Given the description of an element on the screen output the (x, y) to click on. 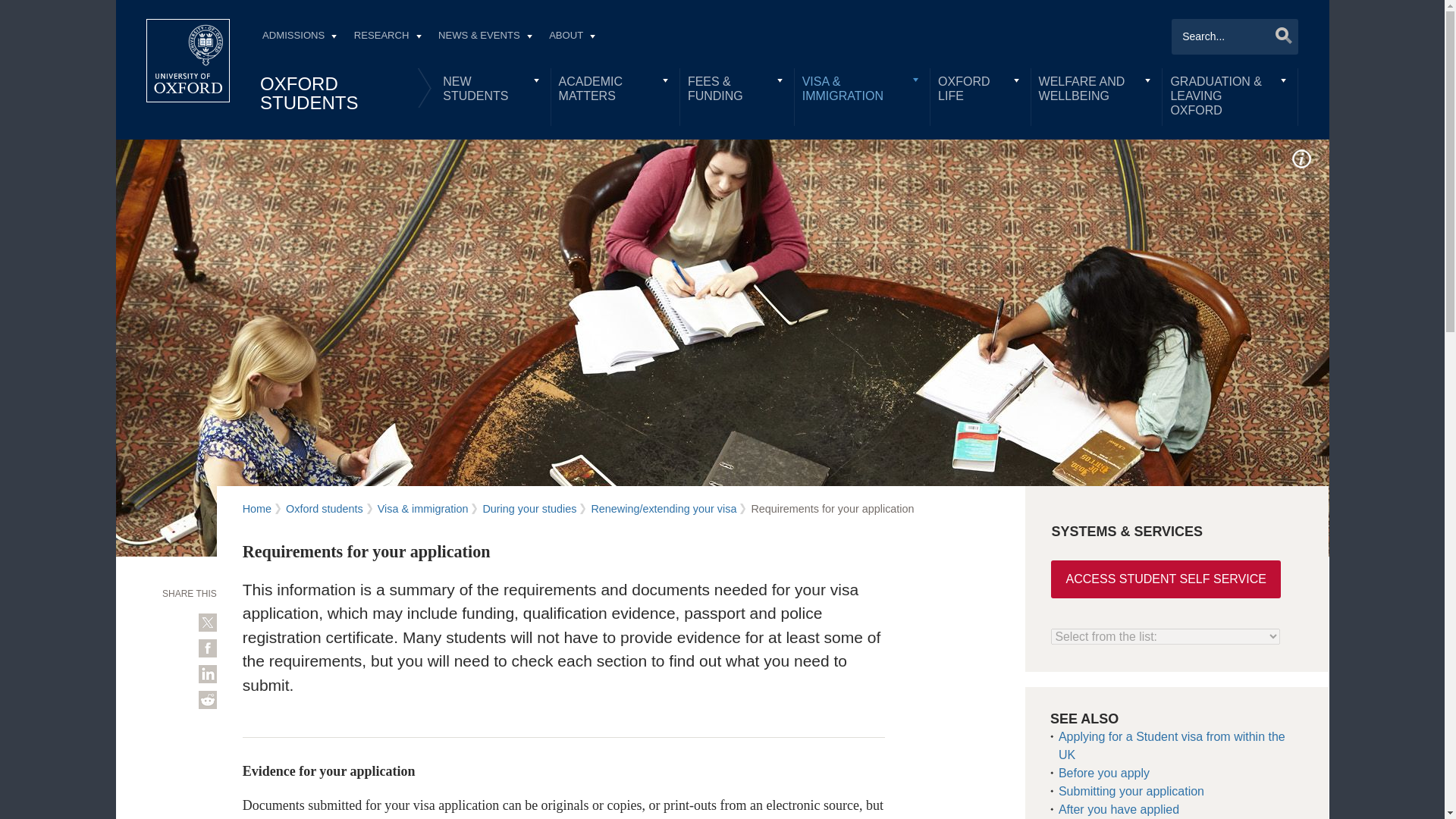
RESEARCH (387, 37)
Search (1279, 35)
Search (1279, 35)
Home (188, 60)
Home (188, 60)
OXFORD STUDENTS (309, 93)
ABOUT (571, 37)
NEW STUDENTS (492, 88)
